Given the description of an element on the screen output the (x, y) to click on. 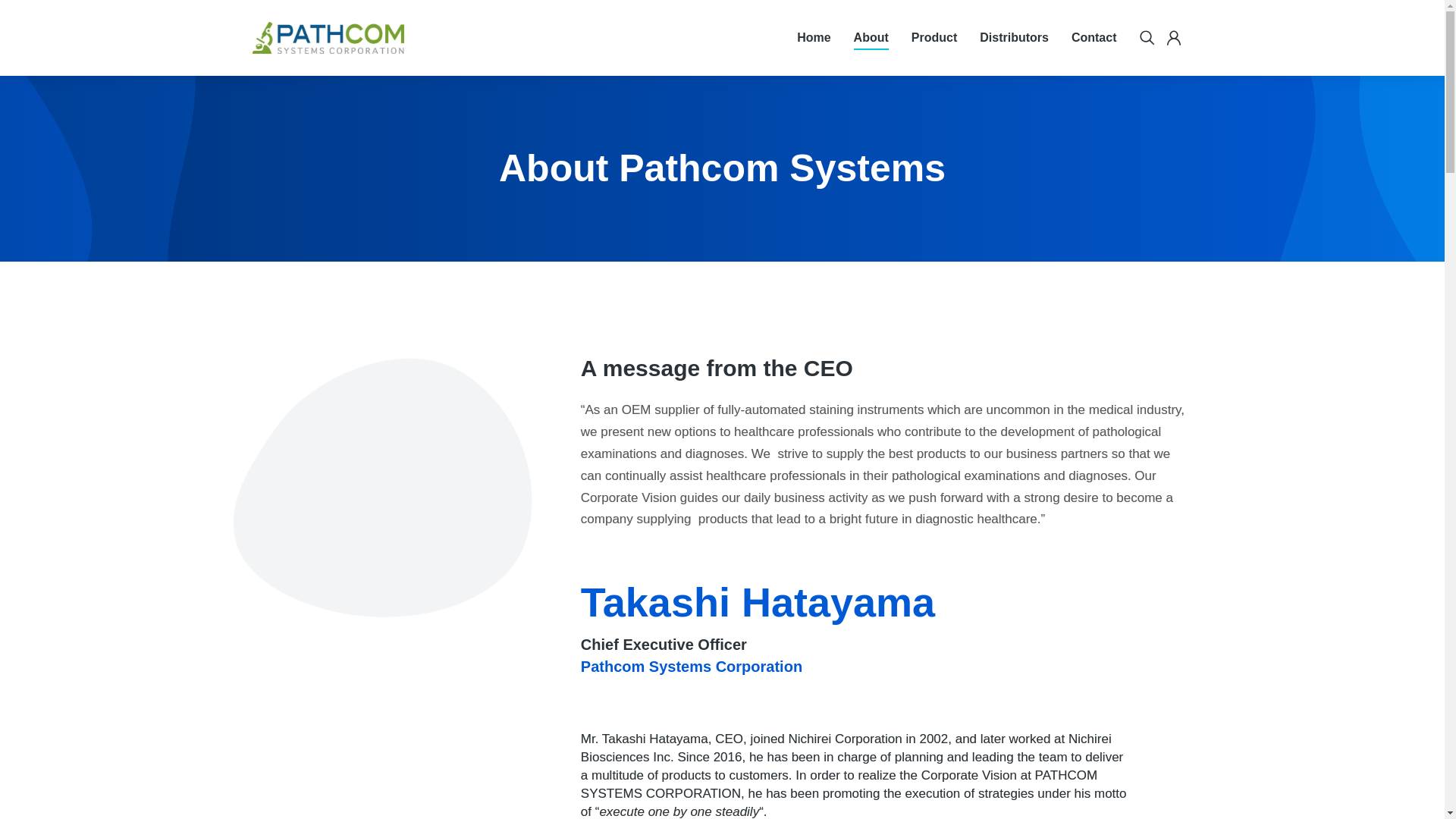
About (870, 37)
Distributors (1013, 37)
Product (933, 37)
bg-grey (368, 469)
Contact (1093, 37)
Home (812, 37)
